Given the description of an element on the screen output the (x, y) to click on. 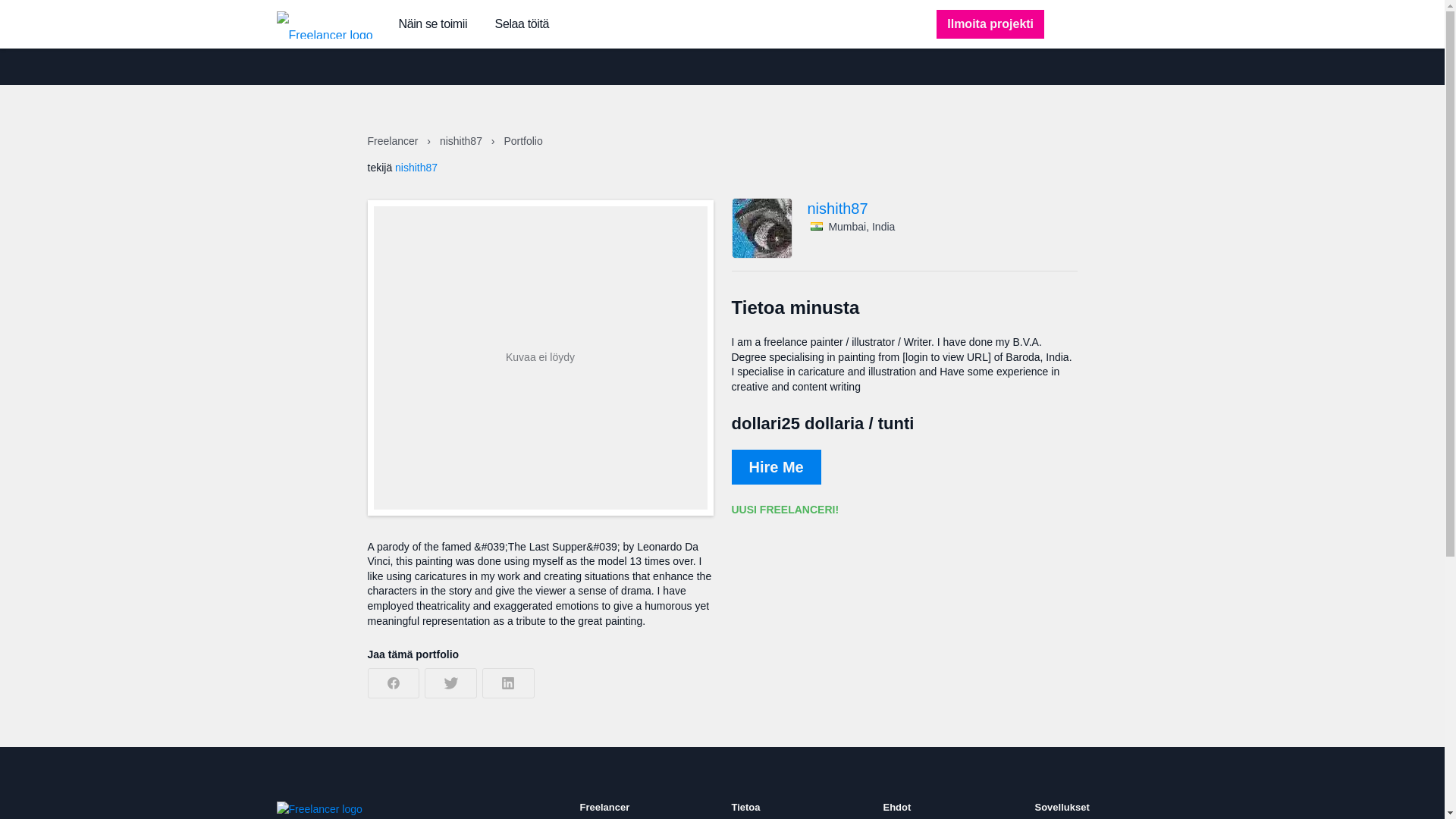
Portfolio (522, 141)
nishith87 (461, 141)
nishith87 (941, 208)
nishith87 (416, 167)
Flag of India (815, 225)
Jaa Facebookissa (392, 683)
Hire Me (775, 466)
Ilmoita projekti (989, 23)
Freelancer (393, 141)
